Given the description of an element on the screen output the (x, y) to click on. 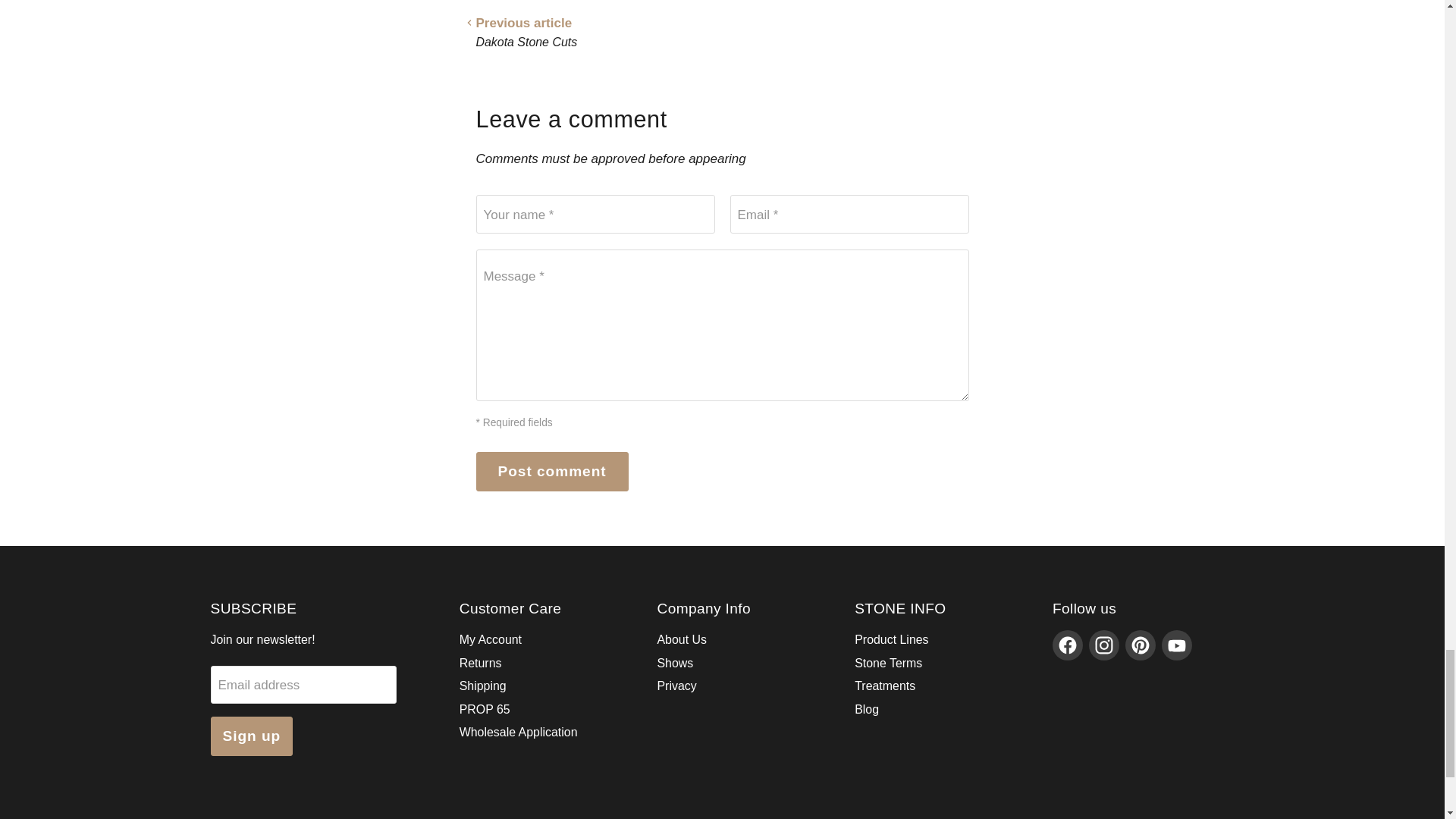
Facebook (1067, 644)
Pinterest (1140, 644)
Instagram (1104, 644)
YouTube (1176, 644)
